Given the description of an element on the screen output the (x, y) to click on. 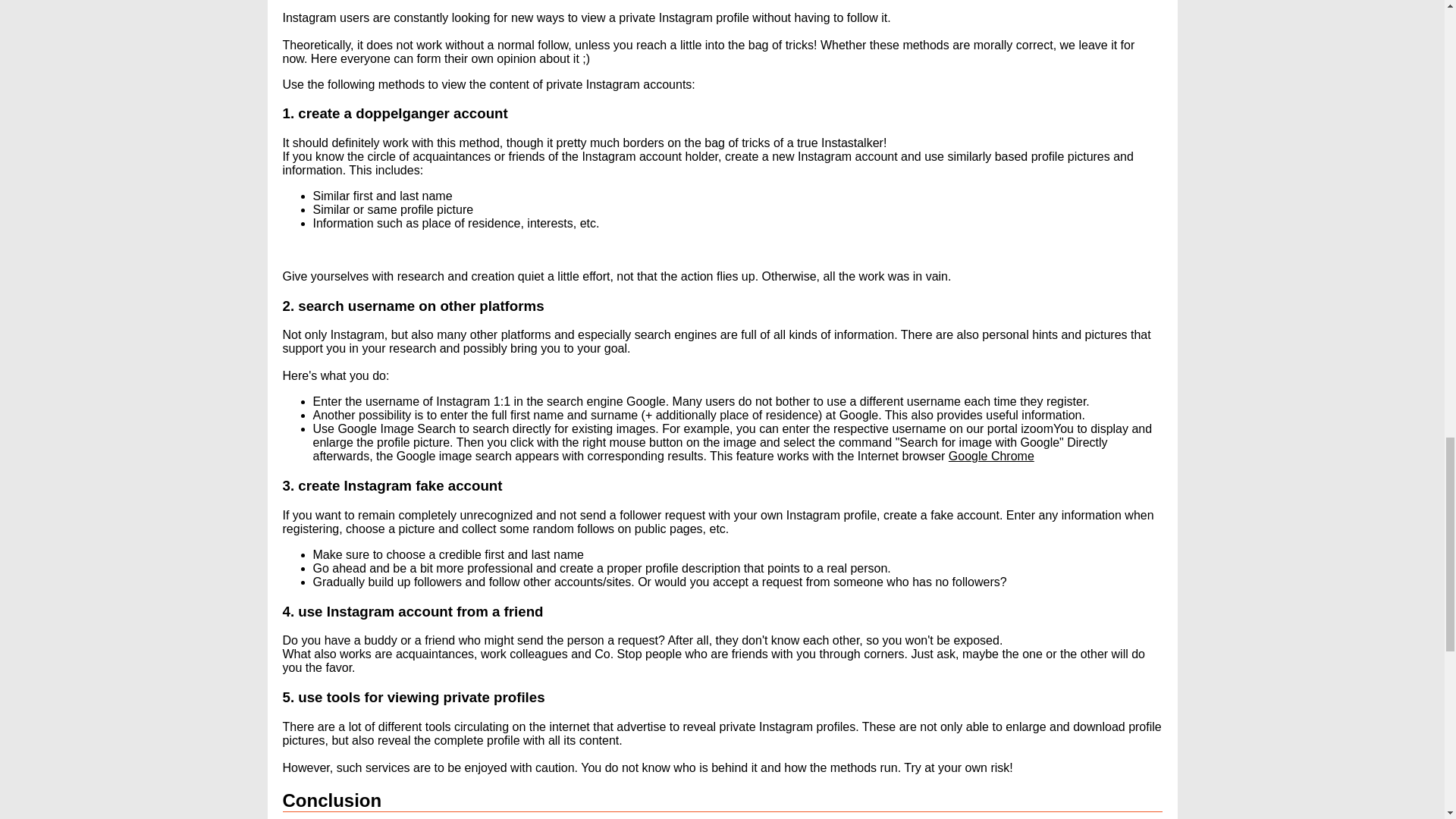
Google Chrome (991, 455)
